Given the description of an element on the screen output the (x, y) to click on. 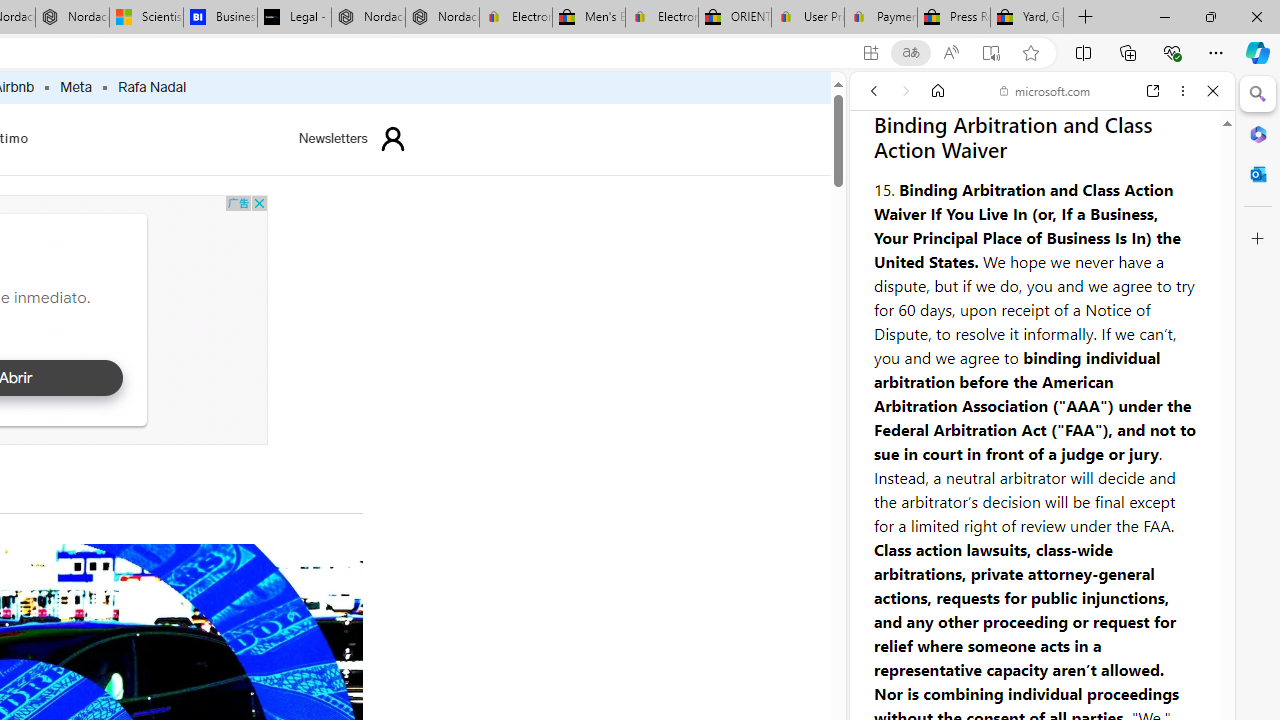
Meta (76, 88)
Web scope (882, 180)
Rafa Nadal (152, 88)
Newsletters (333, 138)
Show translate options (910, 53)
Enter Immersive Reader (F9) (991, 53)
User Privacy Notice | eBay (807, 17)
